Given the description of an element on the screen output the (x, y) to click on. 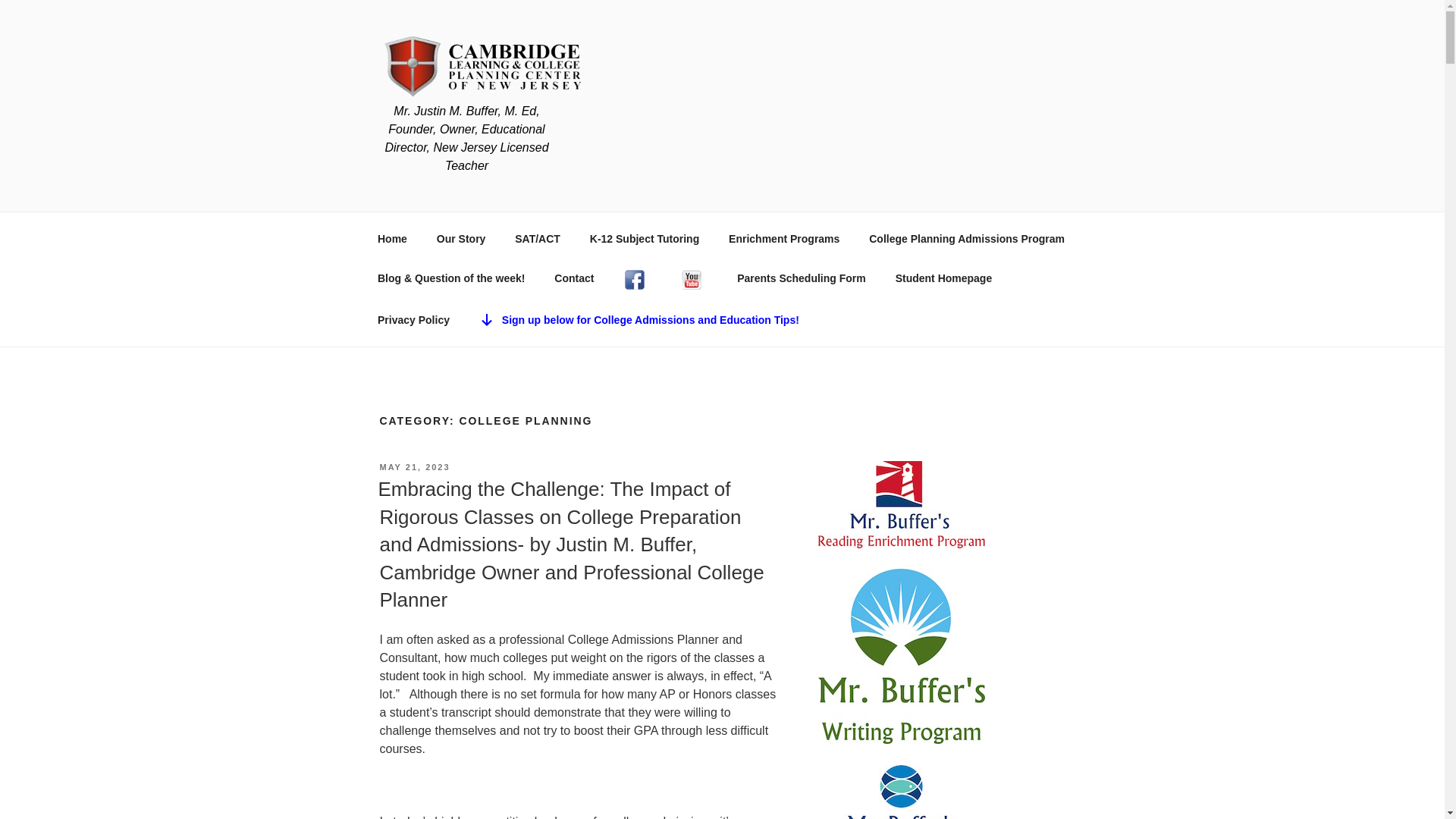
Parents Scheduling Form (801, 278)
Student Homepage (944, 278)
K-12 Subject Tutoring (643, 238)
MAY 21, 2023 (413, 466)
Enrichment Programs (784, 238)
Privacy Policy (413, 320)
Contact (574, 278)
Home (392, 238)
